Given the description of an element on the screen output the (x, y) to click on. 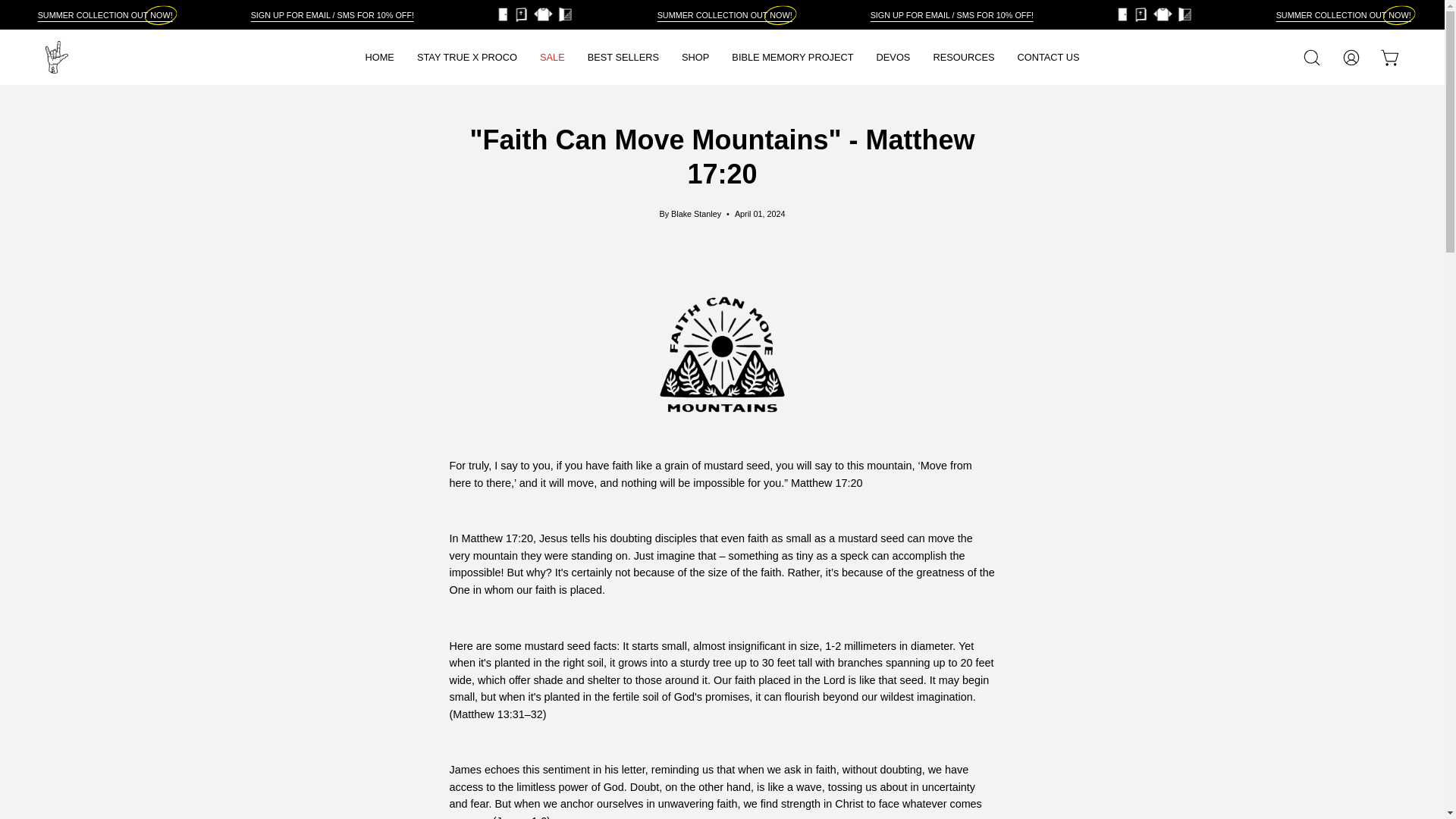
SUMMER COLLECTION (1343, 15)
SUMMER COLLECTION (1343, 15)
Join the Coalition! (724, 15)
SUMMER COLLECTION (950, 15)
Join the Coalition! (105, 15)
